Given the description of an element on the screen output the (x, y) to click on. 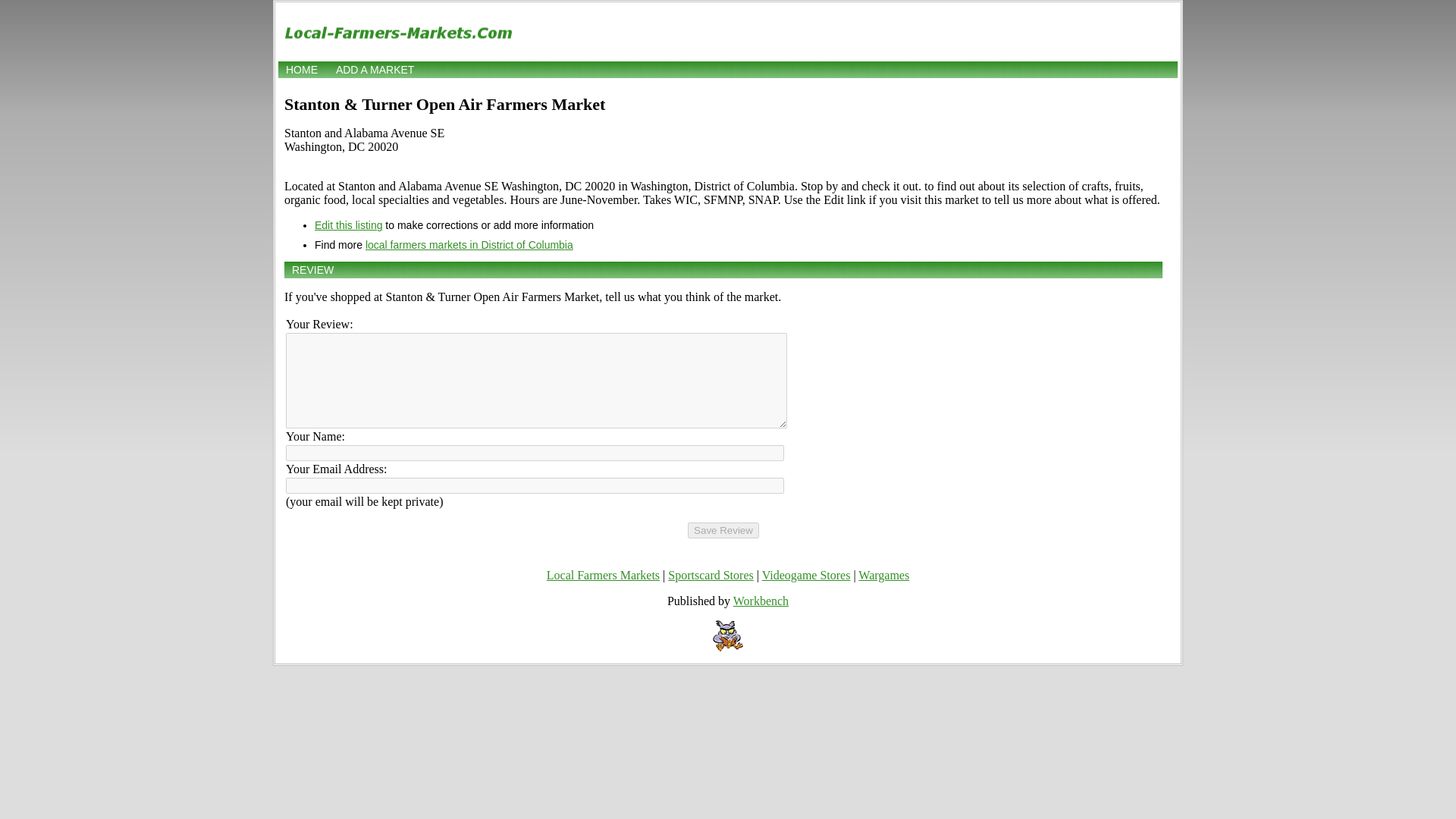
Save Review (722, 530)
ADD A MARKET (375, 69)
Wargames (883, 574)
Videogame Stores (805, 574)
Edit this listing (347, 224)
Sportscard Stores (710, 574)
HOME (301, 69)
Workbench (761, 600)
Save Review (722, 530)
Local Farmers Markets (603, 574)
local farmers markets in District of Columbia (469, 244)
